Given the description of an element on the screen output the (x, y) to click on. 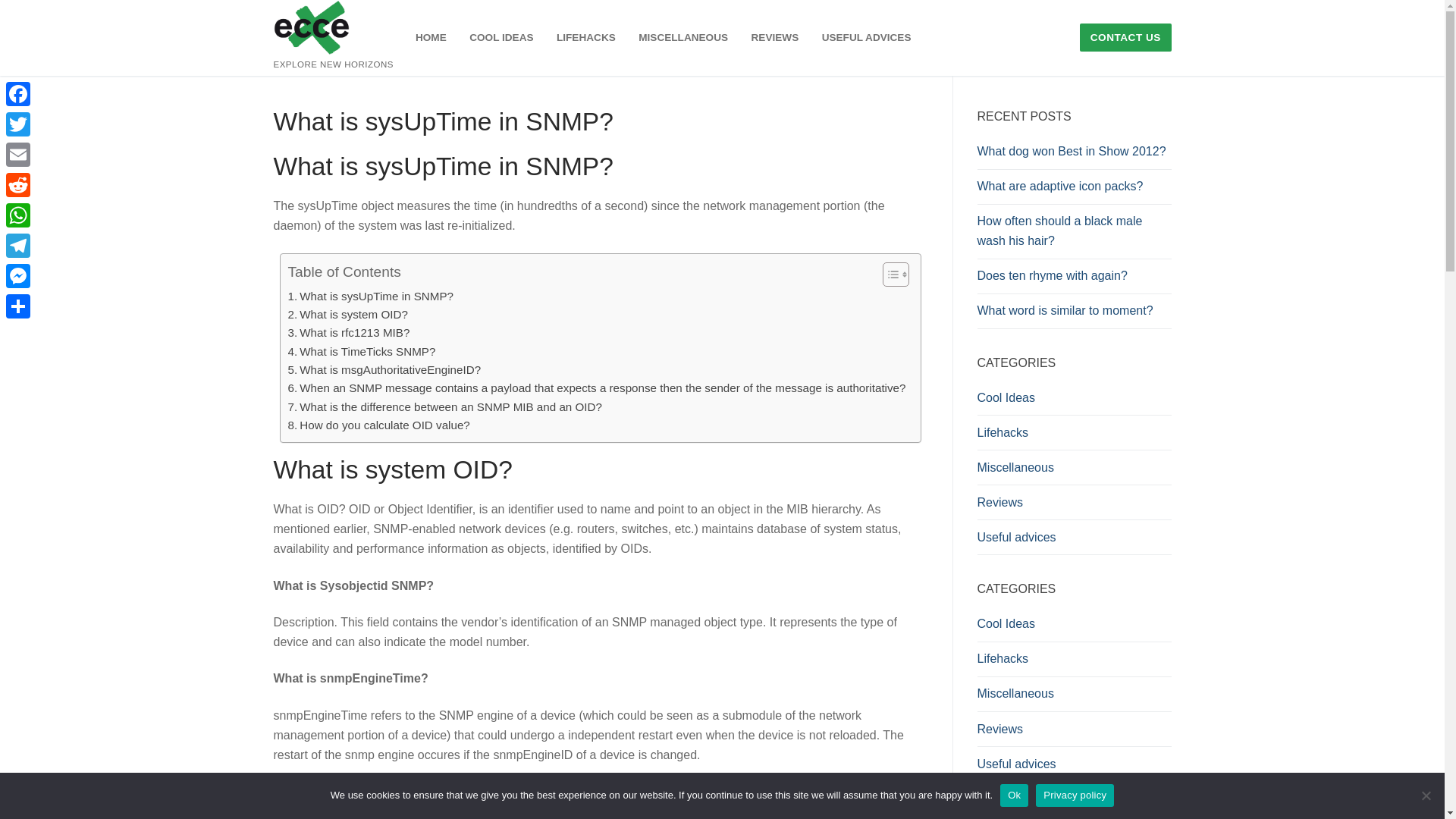
Does ten rhyme with again? (1073, 279)
COOL IDEAS (501, 37)
What word is similar to moment? (1073, 314)
What is rfc1213 MIB? (349, 332)
Cool Ideas (1073, 401)
What is the difference between an SNMP MIB and an OID? (445, 407)
WhatsApp (17, 214)
What dog won Best in Show 2012? (1073, 154)
What is sysUpTime in SNMP? (371, 296)
What is TimeTicks SNMP? (361, 352)
Reddit (17, 184)
How do you calculate OID value? (379, 425)
What is the difference between an SNMP MIB and an OID? (445, 407)
USEFUL ADVICES (866, 37)
